Given the description of an element on the screen output the (x, y) to click on. 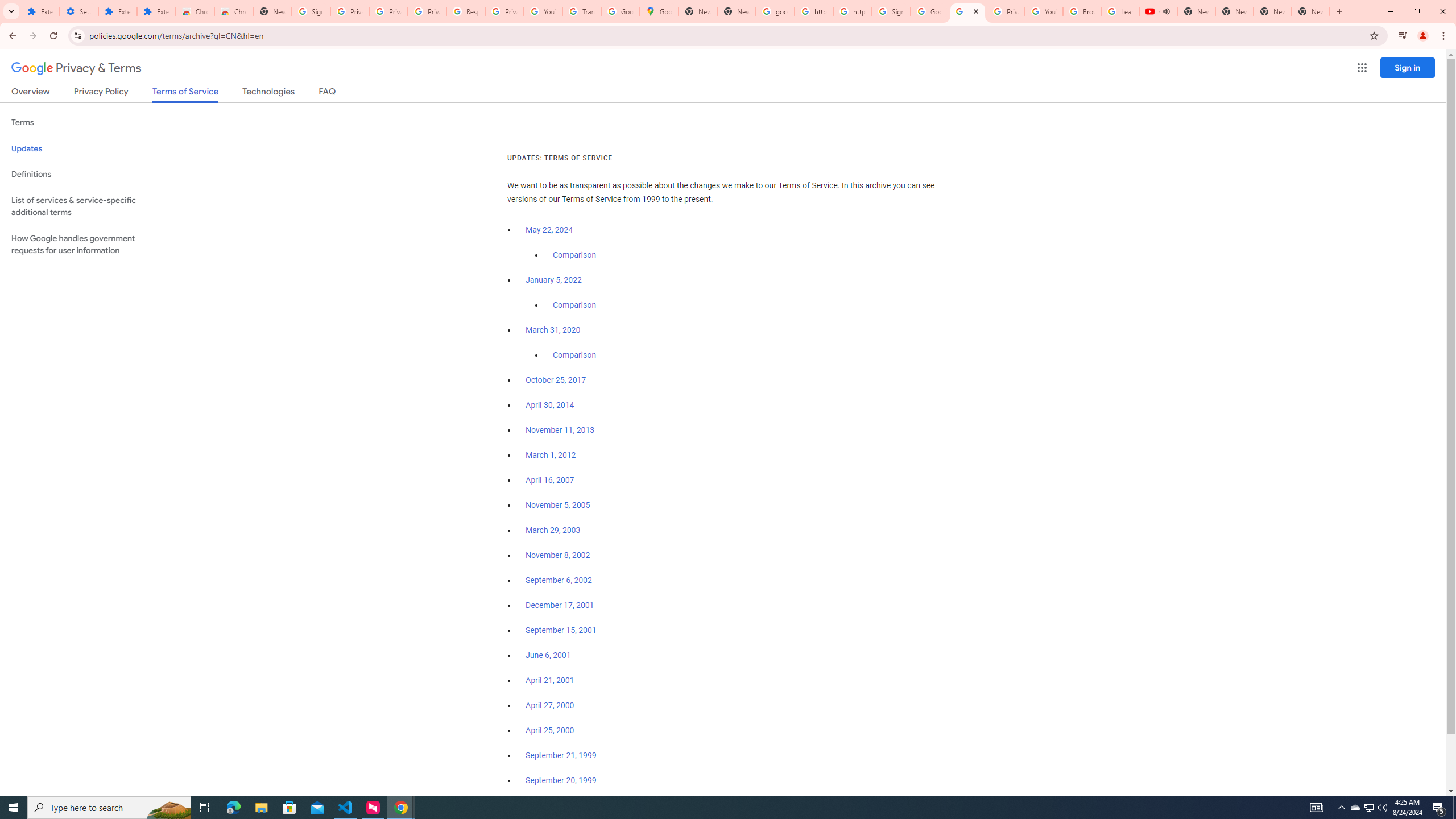
Sign in - Google Accounts (310, 11)
Comparison (574, 355)
September 15, 2001 (560, 629)
September 6, 2002 (558, 579)
April 16, 2007 (550, 480)
Extensions (117, 11)
How Google handles government requests for user information (86, 244)
List of services & service-specific additional terms (86, 206)
